Given the description of an element on the screen output the (x, y) to click on. 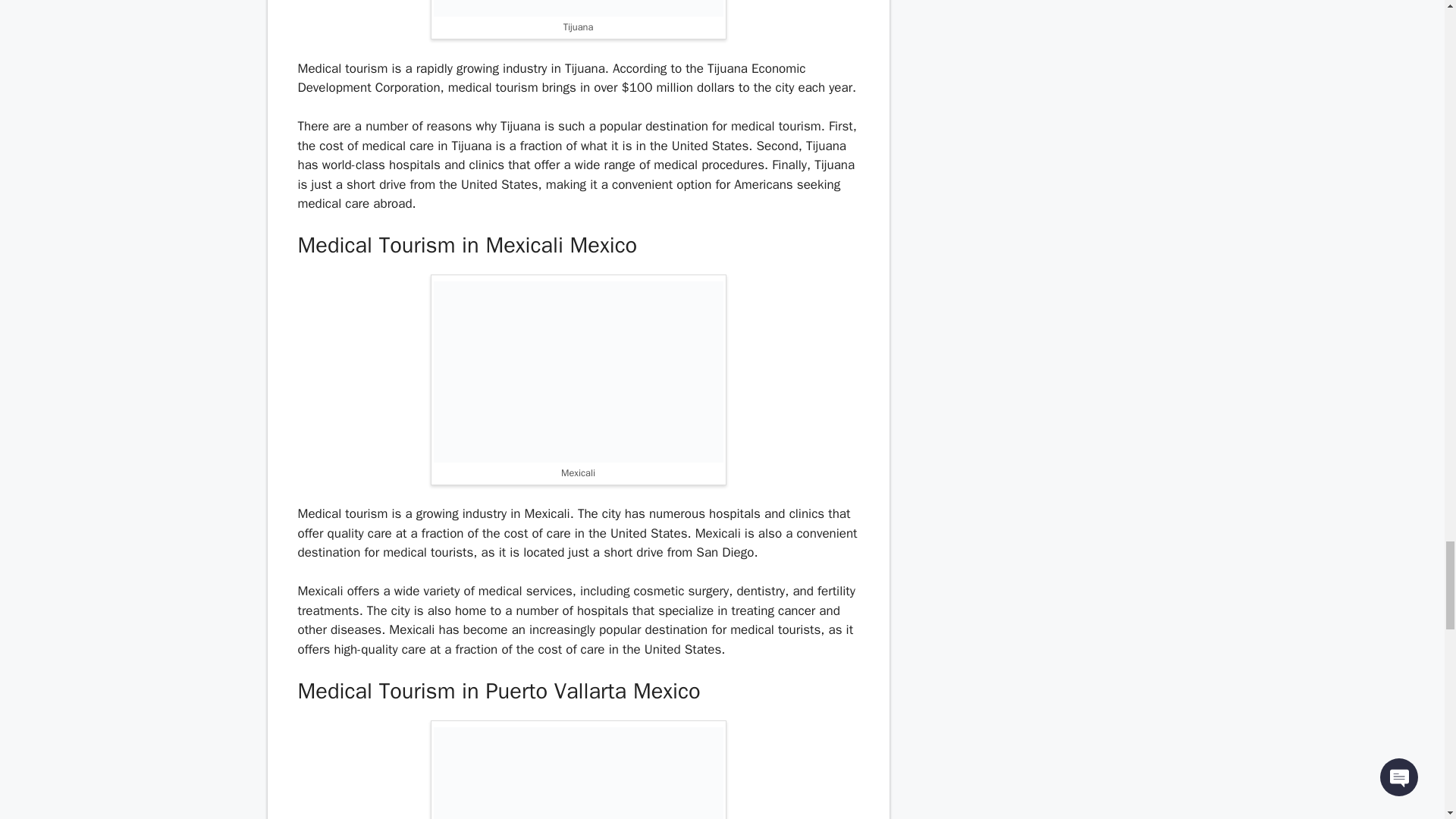
Mexicali (578, 371)
Puerto Vallarta (578, 773)
Tijuana (578, 8)
